Given the description of an element on the screen output the (x, y) to click on. 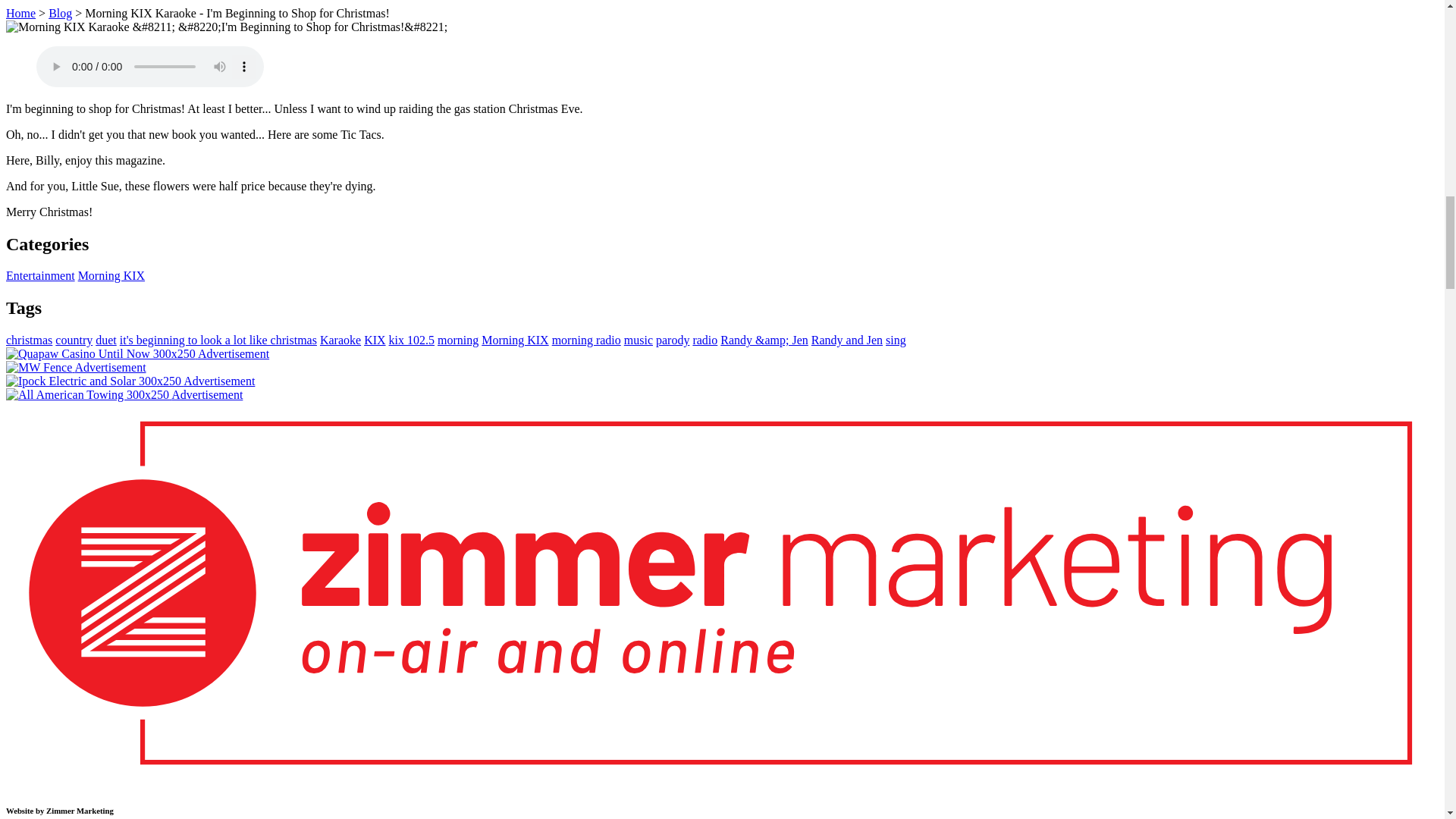
morning radio (586, 339)
duet (106, 339)
Karaoke (340, 339)
it's beginning to look a lot like christmas (218, 339)
Morning KIX (514, 339)
morning (458, 339)
christmas (28, 339)
KIX (374, 339)
sing (895, 339)
Home (19, 12)
